Given the description of an element on the screen output the (x, y) to click on. 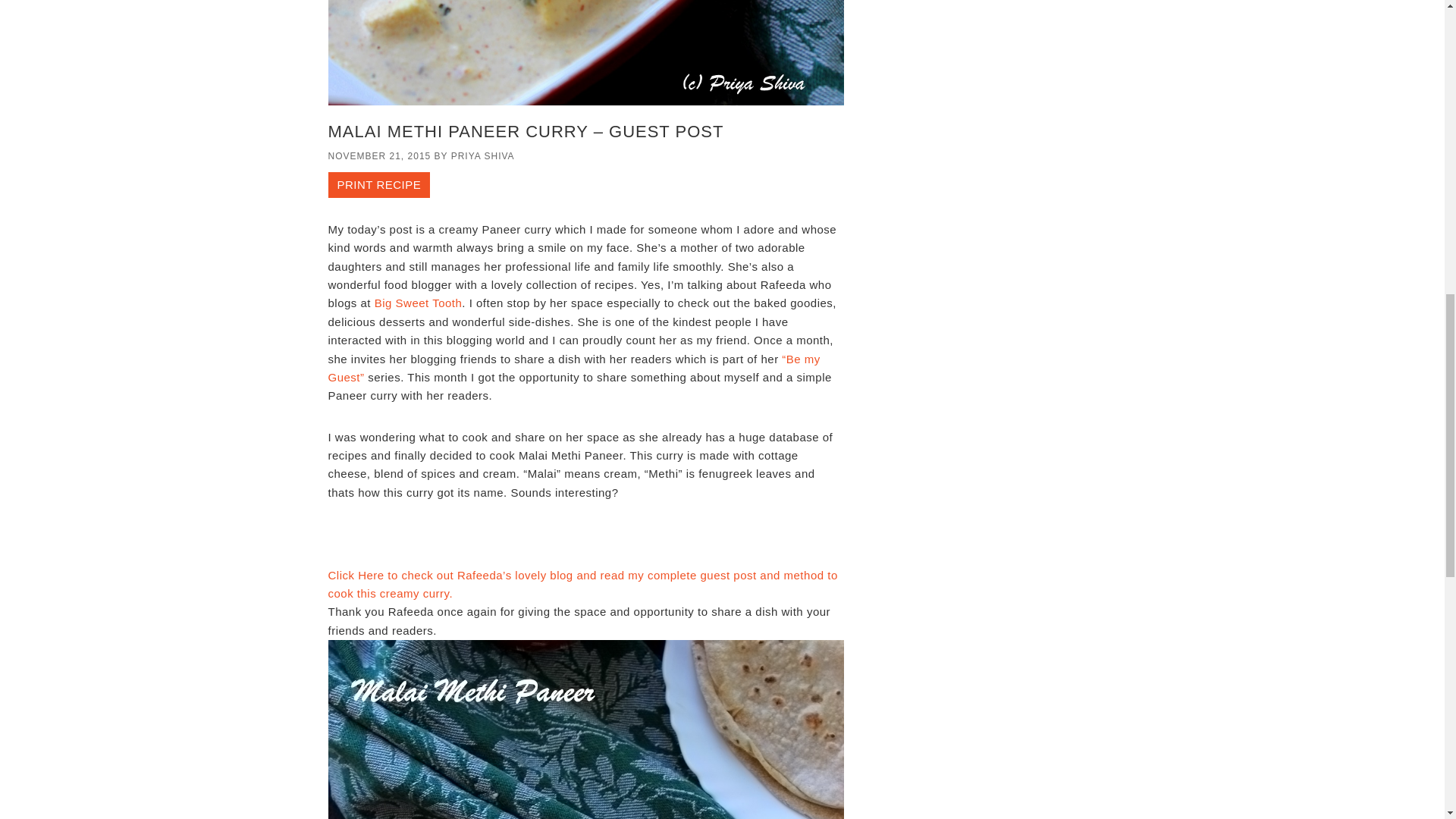
PRIYA SHIVA (483, 155)
PRINT RECIPE (378, 184)
Big Sweet Tooth (418, 302)
